Given the description of an element on the screen output the (x, y) to click on. 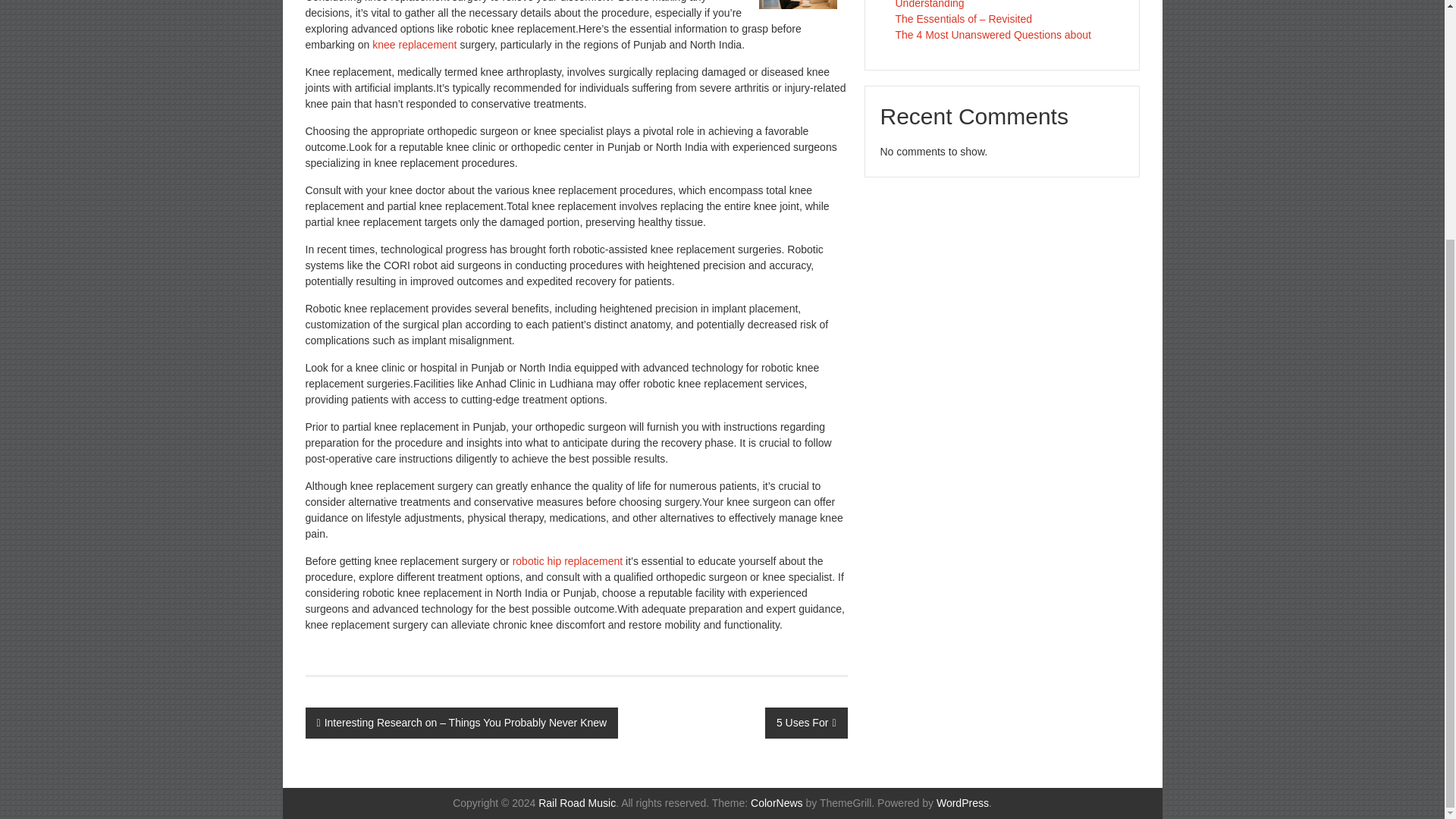
knee replacement (414, 44)
ColorNews (776, 802)
Understanding (929, 4)
WordPress (962, 802)
Rail Road Music (576, 802)
ColorNews (776, 802)
The 4 Most Unanswered Questions about (992, 34)
robotic hip replacement (566, 561)
WordPress (962, 802)
Rail Road Music (576, 802)
